Given the description of an element on the screen output the (x, y) to click on. 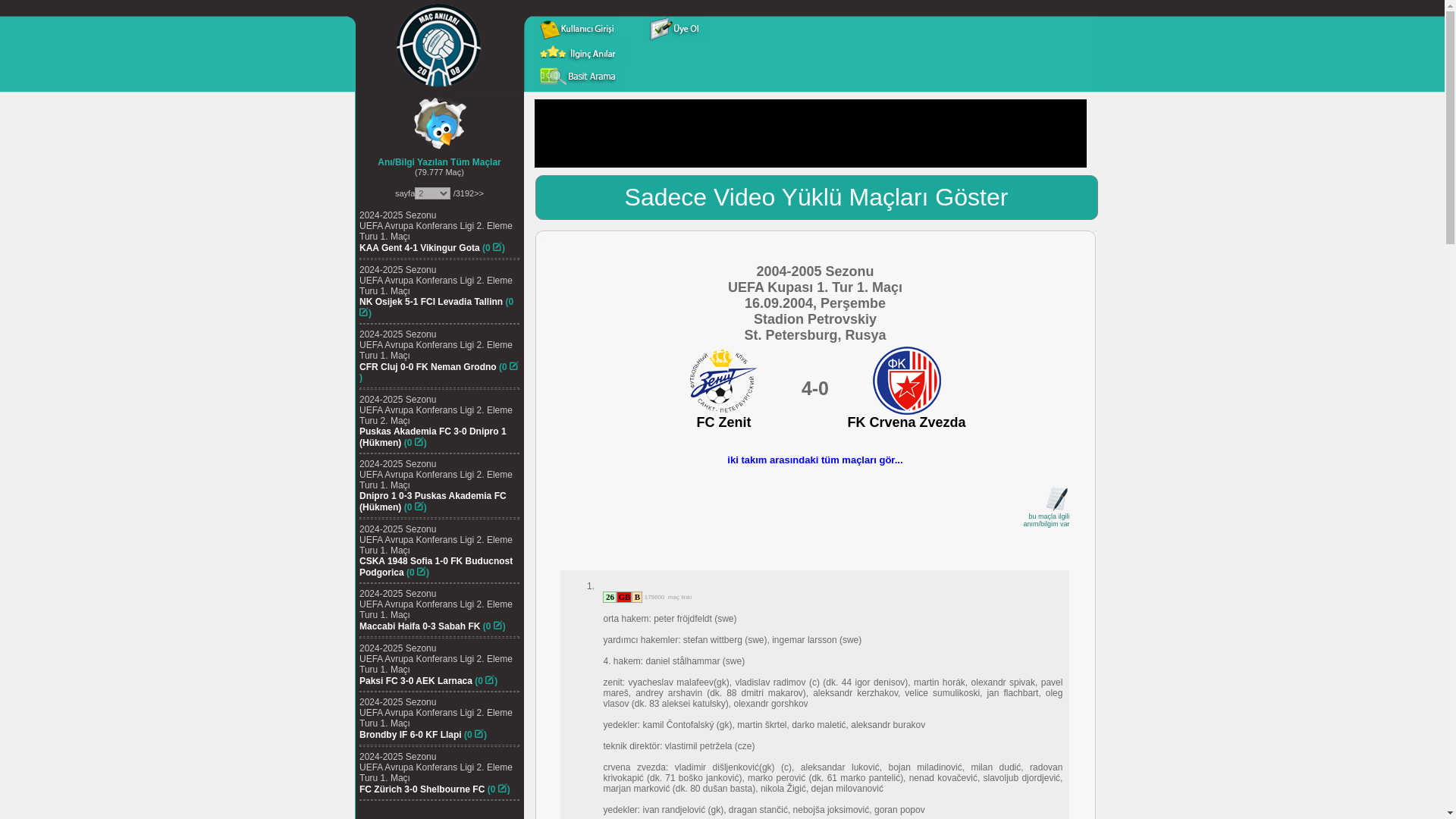
Bilgi! (636, 596)
FK Crvena Zvezda (906, 423)
 179600 (652, 595)
FC Zenit (723, 423)
